Given the description of an element on the screen output the (x, y) to click on. 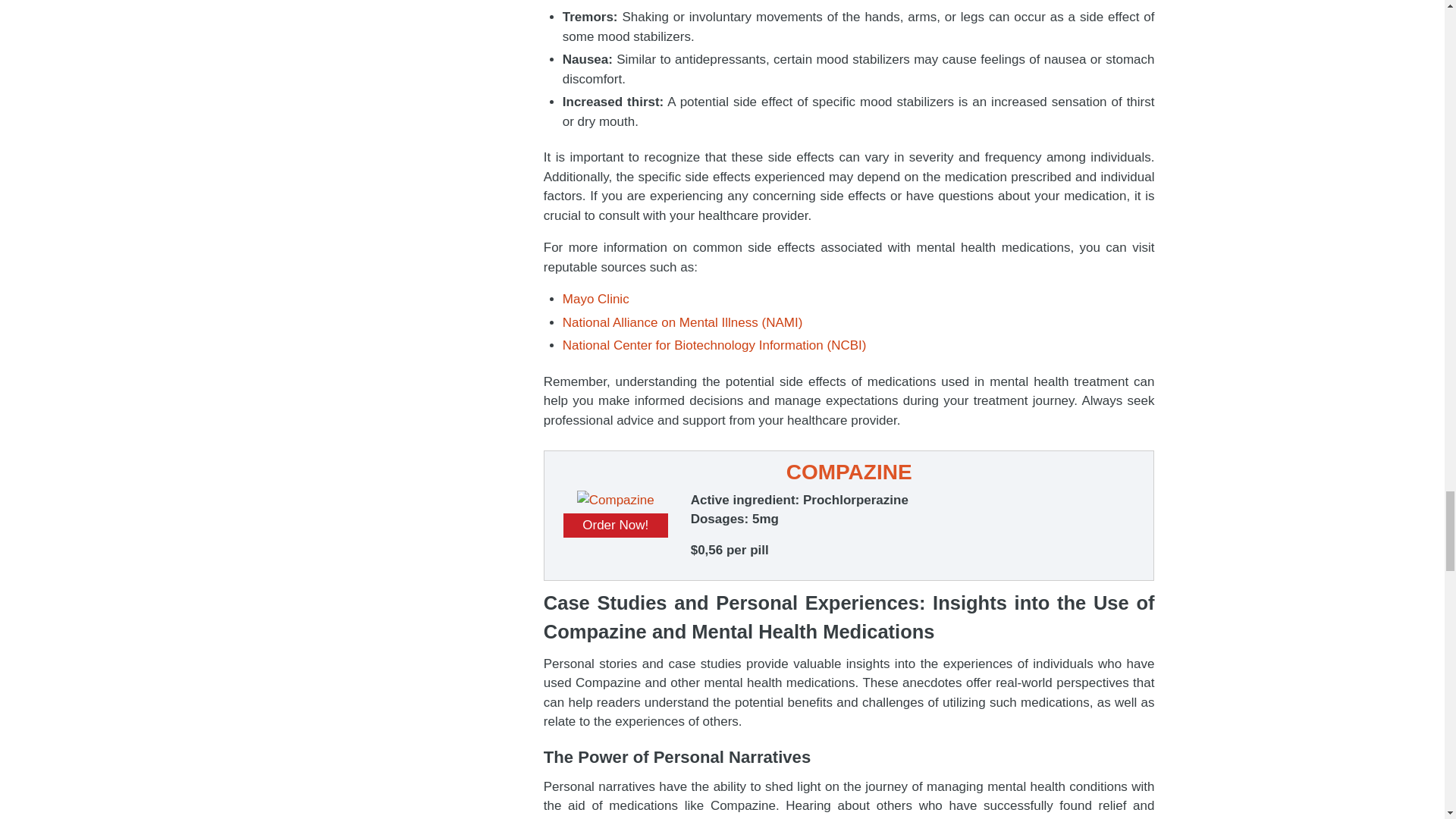
Order Now! (615, 525)
Mayo Clinic (595, 298)
Order Now! (615, 525)
Compazine (614, 499)
